Given the description of an element on the screen output the (x, y) to click on. 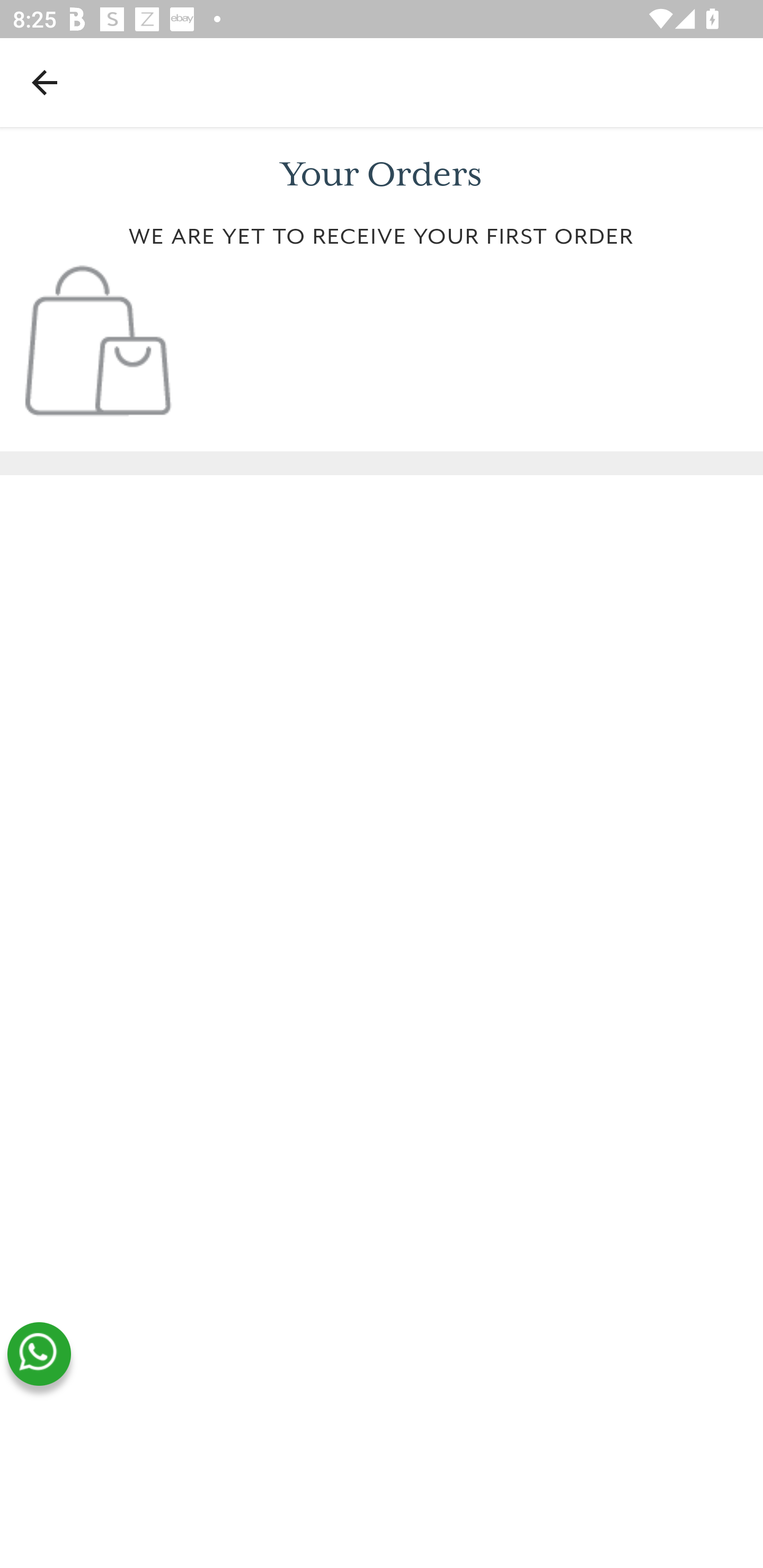
Navigate up (44, 82)
whatsapp (38, 1353)
